Given the description of an element on the screen output the (x, y) to click on. 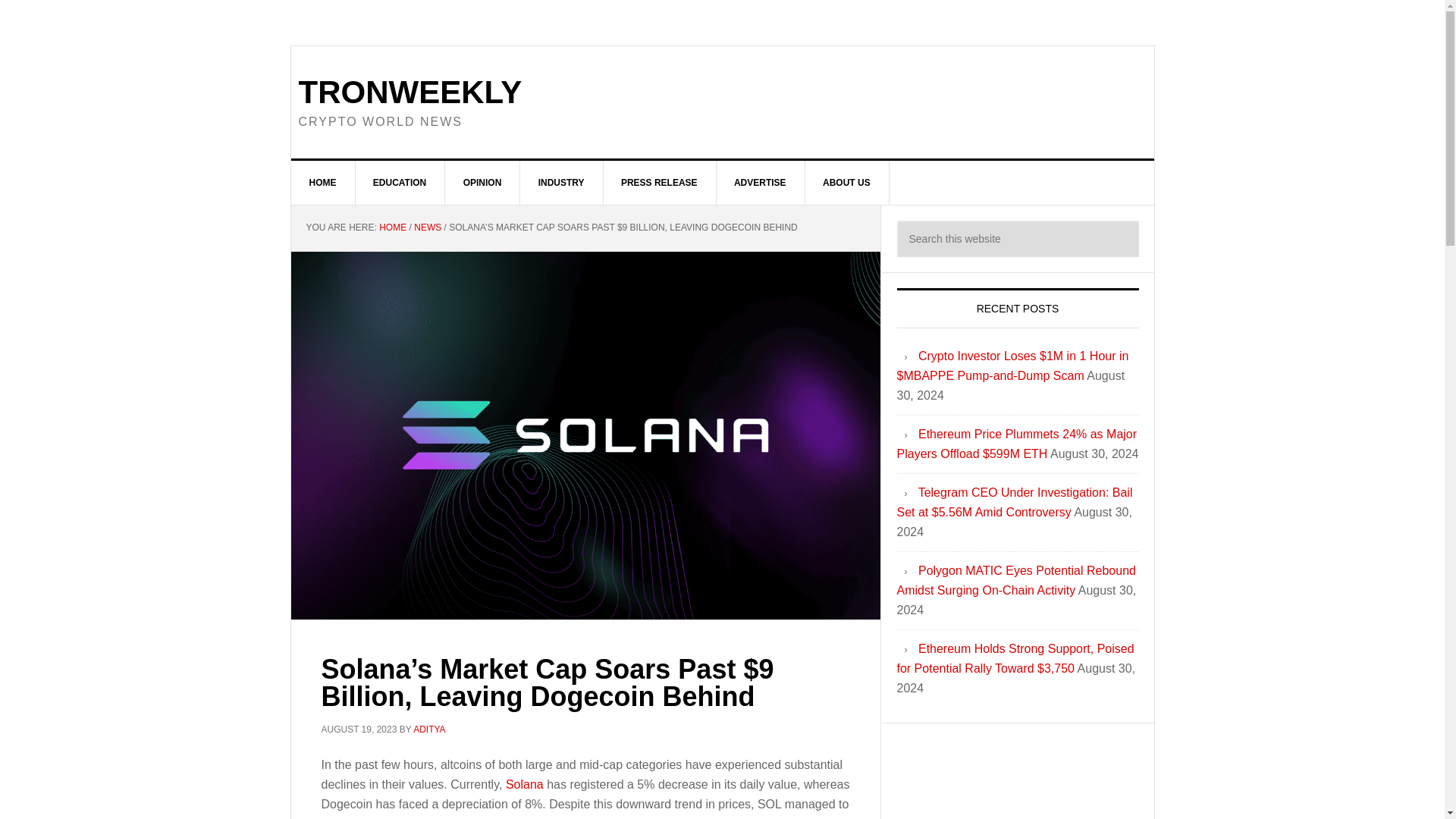
PRESS RELEASE (659, 182)
ABOUT US (847, 182)
EDUCATION (400, 182)
OPINION (483, 182)
HOME (323, 182)
ADVERTISE (760, 182)
NEWS (427, 226)
HOME (392, 226)
TRONWEEKLY (410, 91)
